Given the description of an element on the screen output the (x, y) to click on. 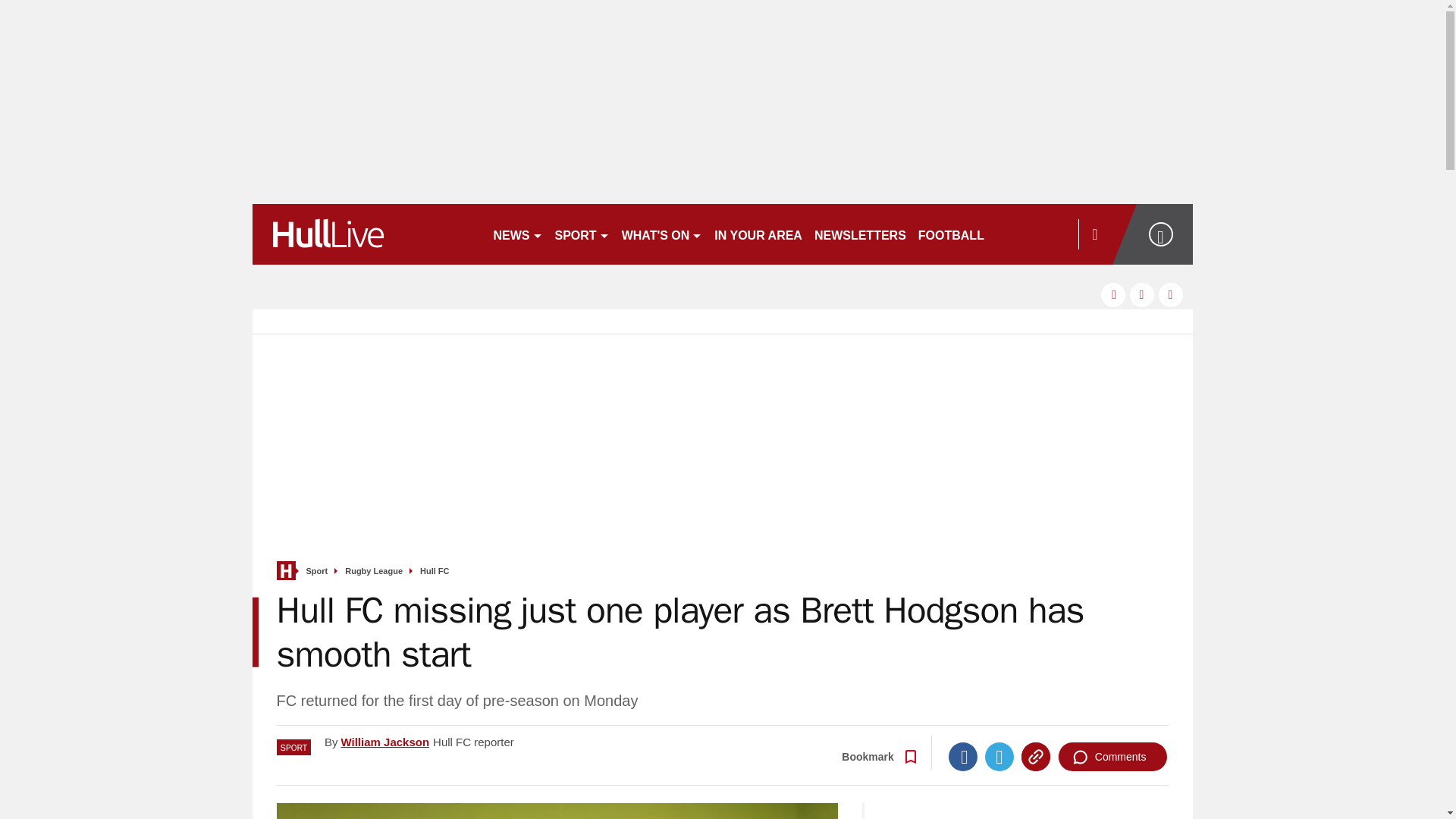
facebook (1112, 294)
twitter (1141, 294)
Facebook (962, 756)
NEWSLETTERS (860, 233)
hulldailymail (365, 233)
instagram (1170, 294)
FOOTBALL (951, 233)
NEWS (517, 233)
SPORT (581, 233)
IN YOUR AREA (757, 233)
WHAT'S ON (662, 233)
Twitter (999, 756)
Comments (1112, 756)
RUGBY LEAGUE (1045, 233)
